Given the description of an element on the screen output the (x, y) to click on. 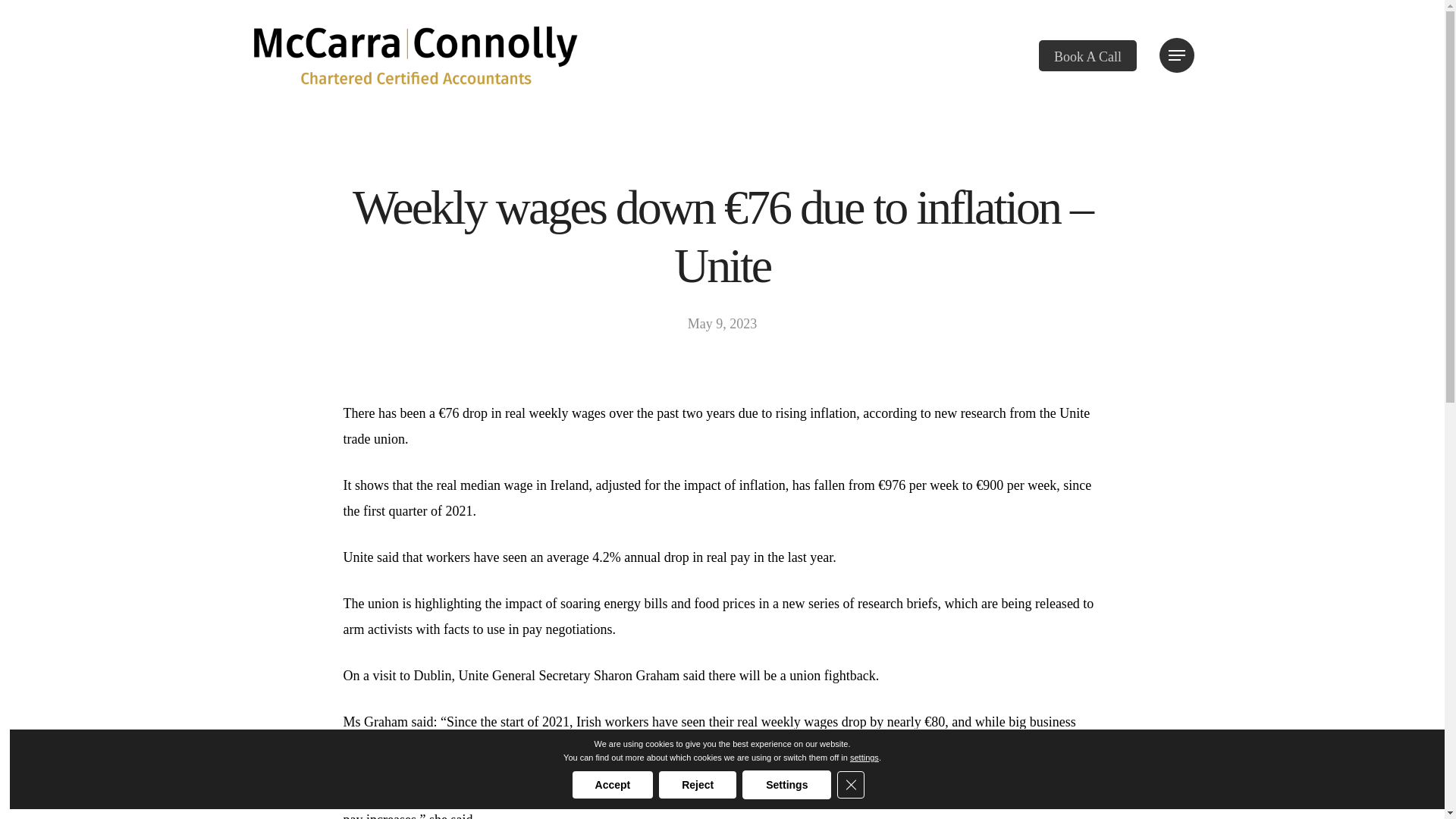
Menu (1175, 54)
Book A Call (1088, 54)
